Given the description of an element on the screen output the (x, y) to click on. 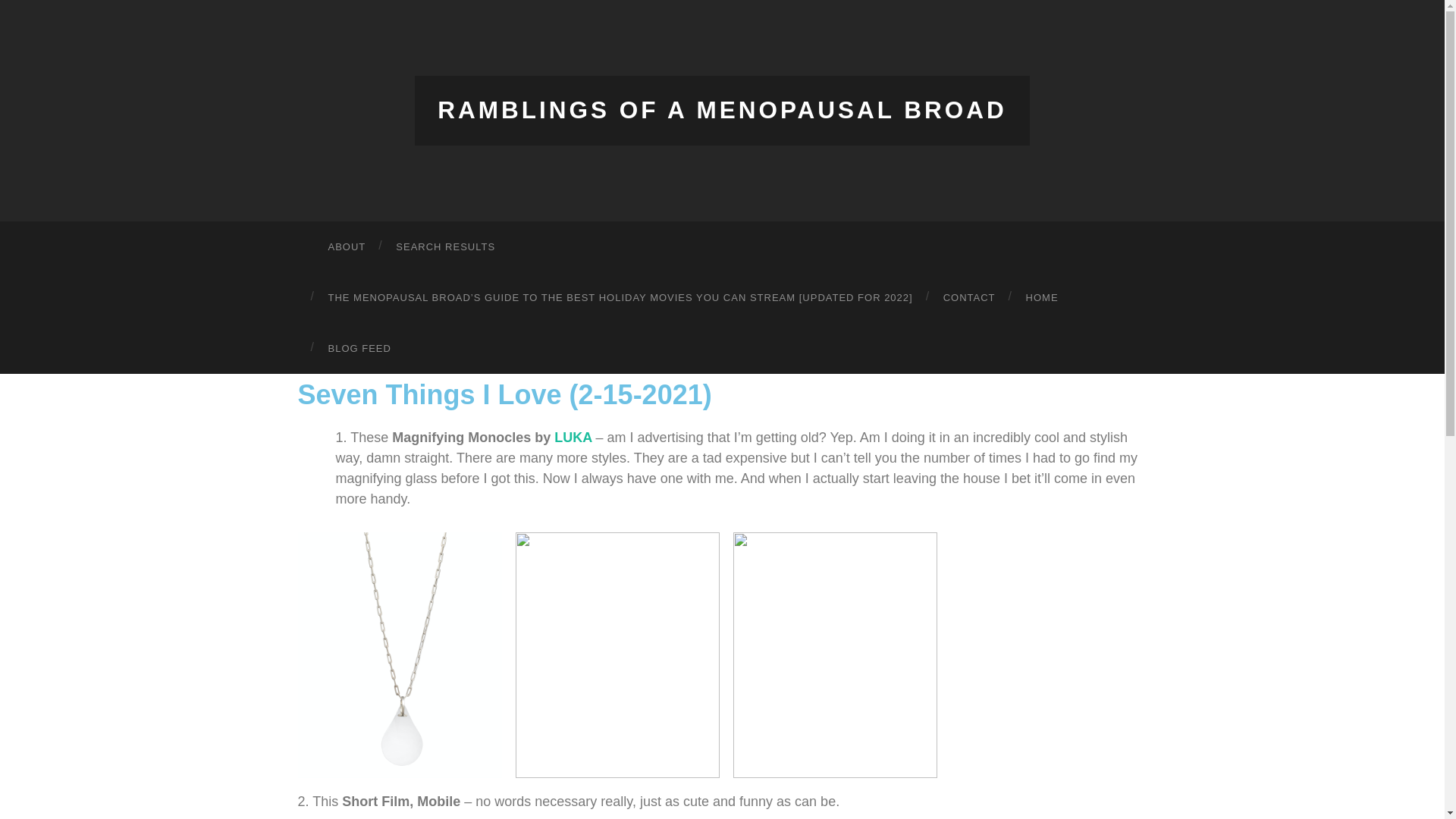
RAMBLINGS OF A MENOPAUSAL BROAD (722, 109)
LUKA (572, 436)
BLOG FEED (359, 347)
CONTACT (969, 296)
SEARCH RESULTS (445, 246)
HOME (1042, 296)
ABOUT (346, 246)
